Given the description of an element on the screen output the (x, y) to click on. 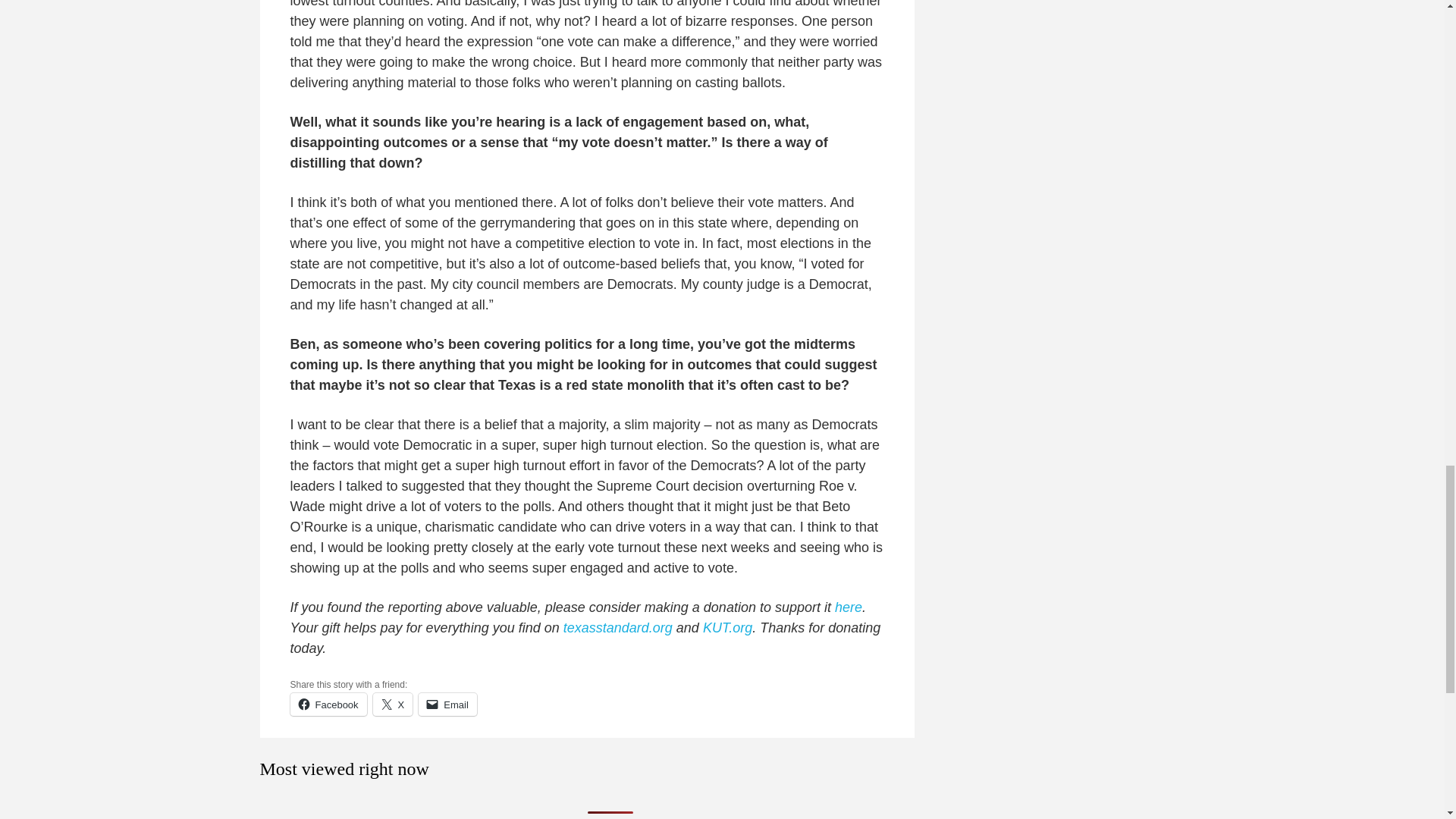
Click to email a link to a friend (448, 703)
Click to share on Facebook (327, 703)
Click to share on X (392, 703)
